Given the description of an element on the screen output the (x, y) to click on. 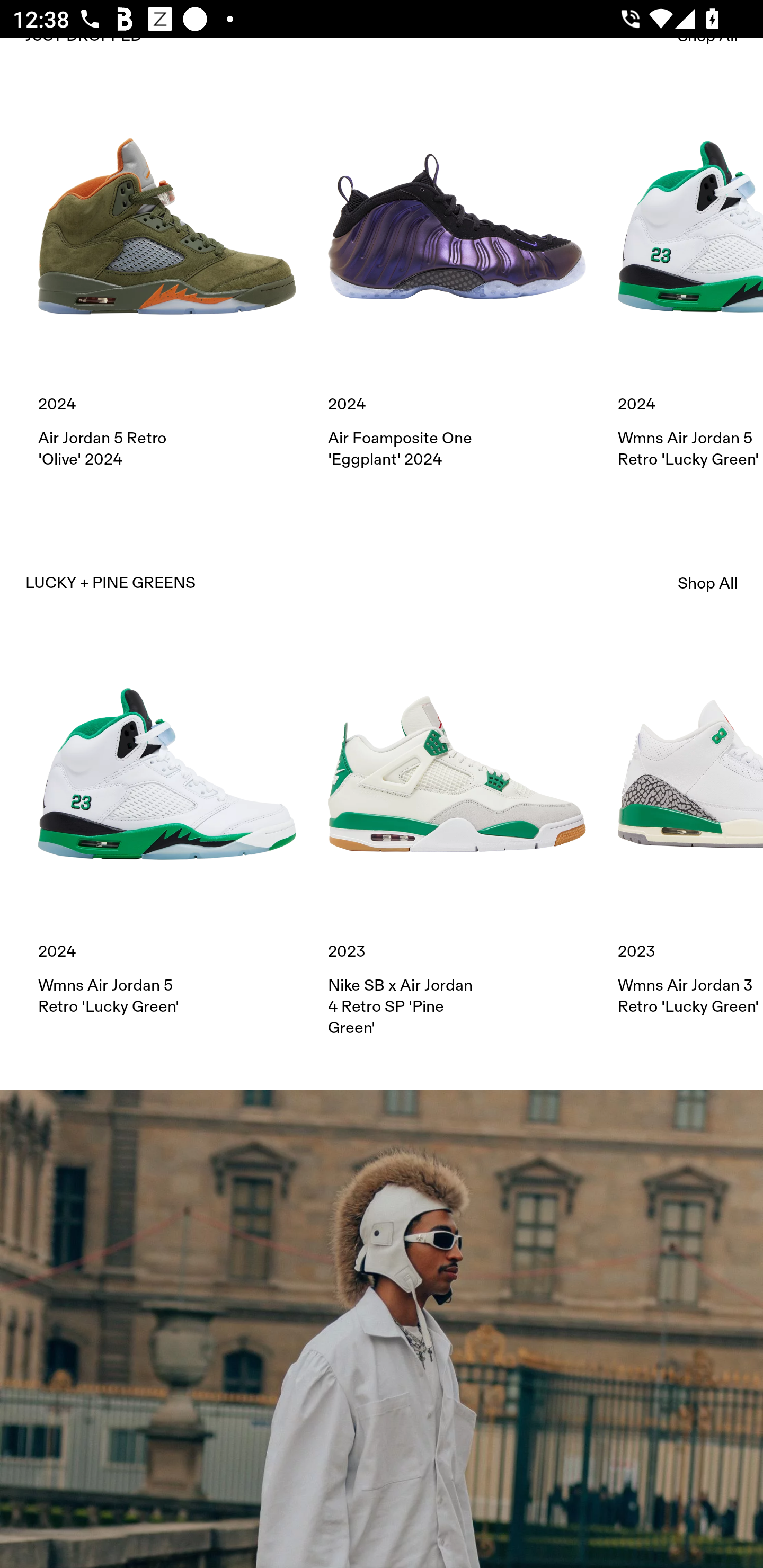
2024 Air Jordan 5 Retro 'Olive' 2024 (167, 283)
2024 Air Foamposite One 'Eggplant' 2024 (456, 283)
2024 Wmns Air Jordan 5 Retro 'Lucky Green' (690, 283)
Shop All (707, 583)
2024 Wmns Air Jordan 5 Retro 'Lucky Green' (167, 830)
2023 Nike SB x Air Jordan 4 Retro SP 'Pine Green' (456, 841)
2023 Wmns Air Jordan 3 Retro 'Lucky Green' (690, 830)
